Given the description of an element on the screen output the (x, y) to click on. 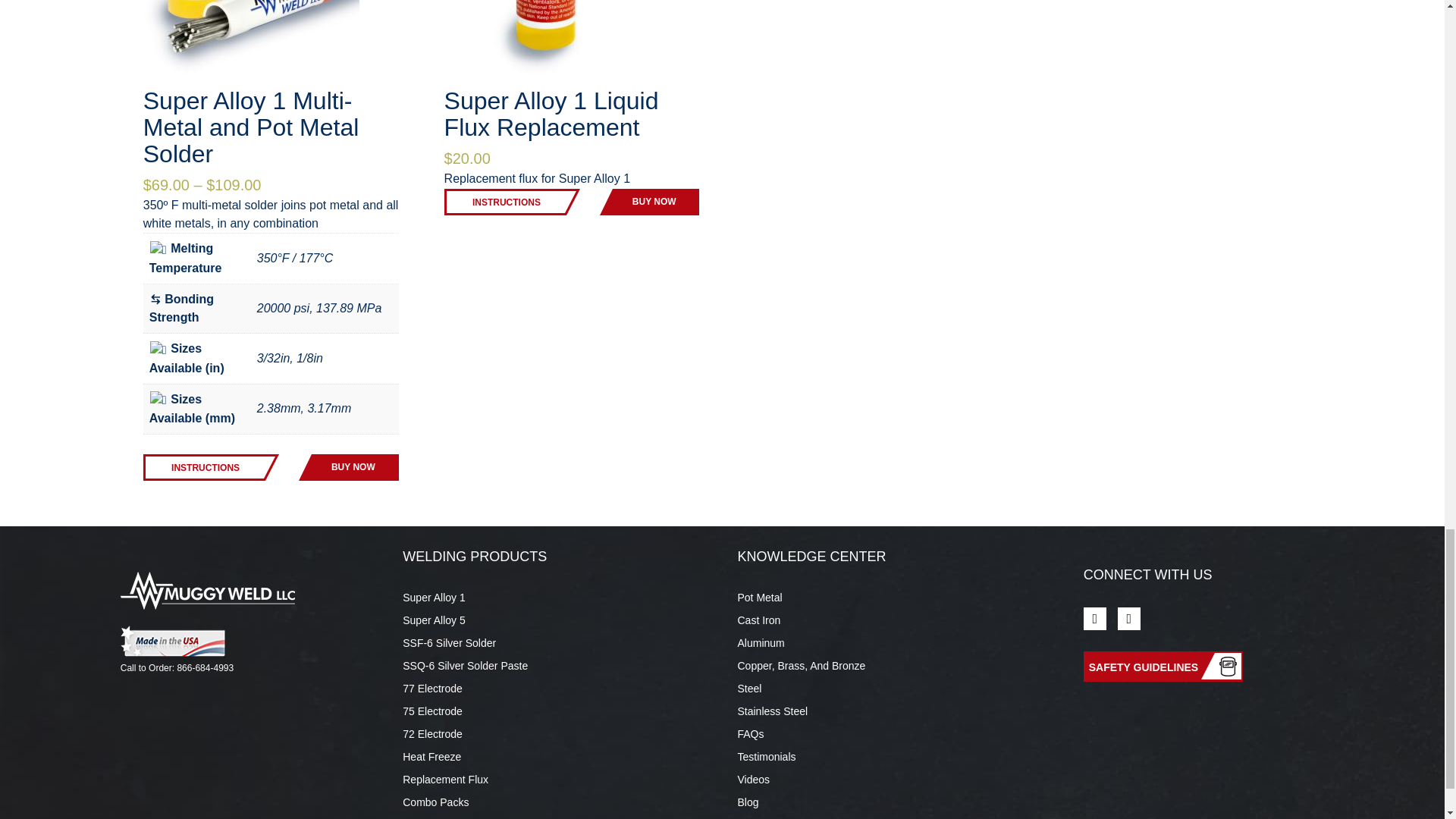
Super Alloy 1 (434, 597)
Super Alloy 5 (434, 620)
WELDING PRODUCTS (475, 556)
